Given the description of an element on the screen output the (x, y) to click on. 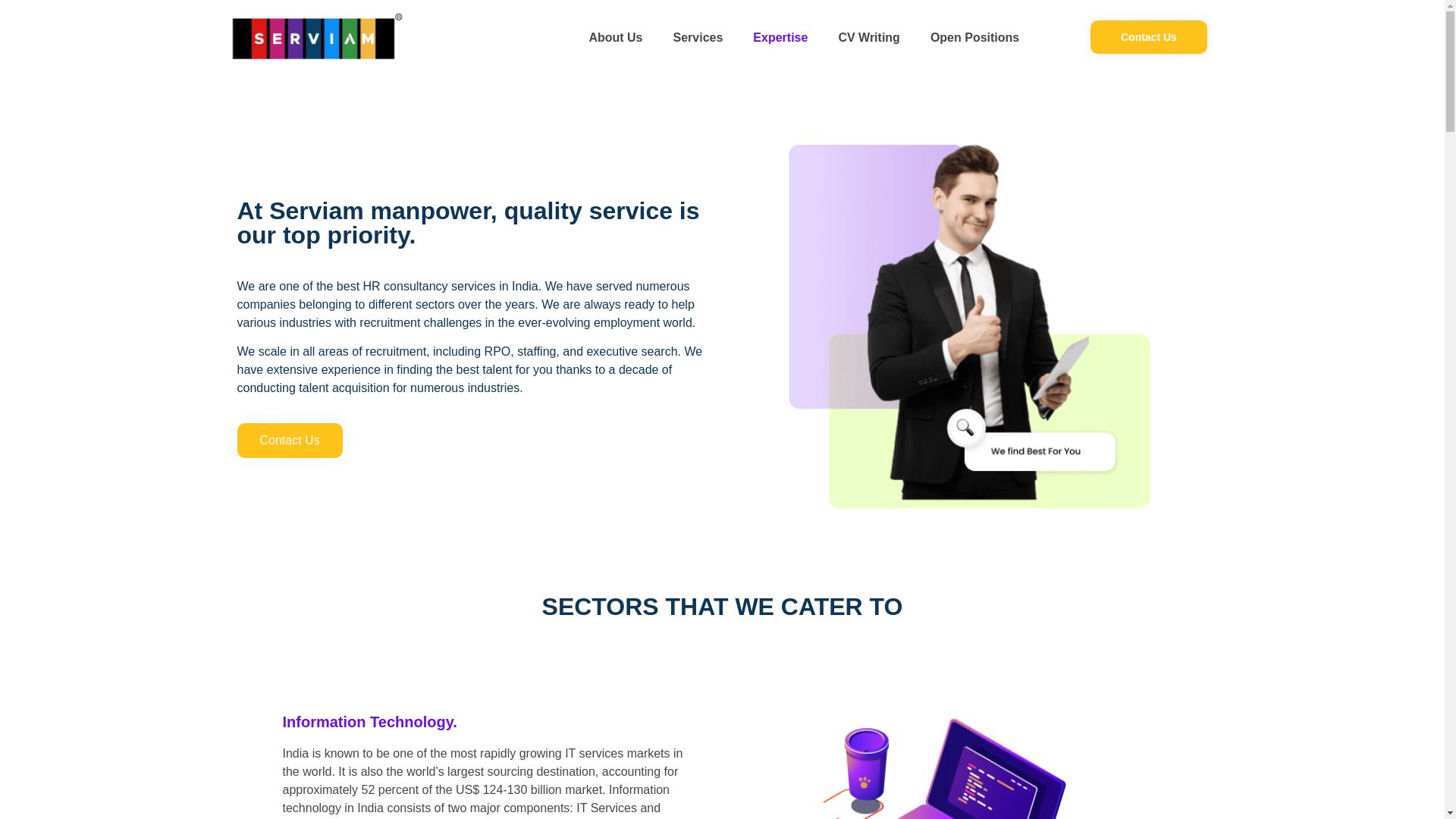
Contact Us (288, 440)
Open Positions (974, 37)
Contact Us (1148, 37)
Services (698, 37)
Expertise (780, 37)
About Us (615, 37)
CV Writing (868, 37)
